Given the description of an element on the screen output the (x, y) to click on. 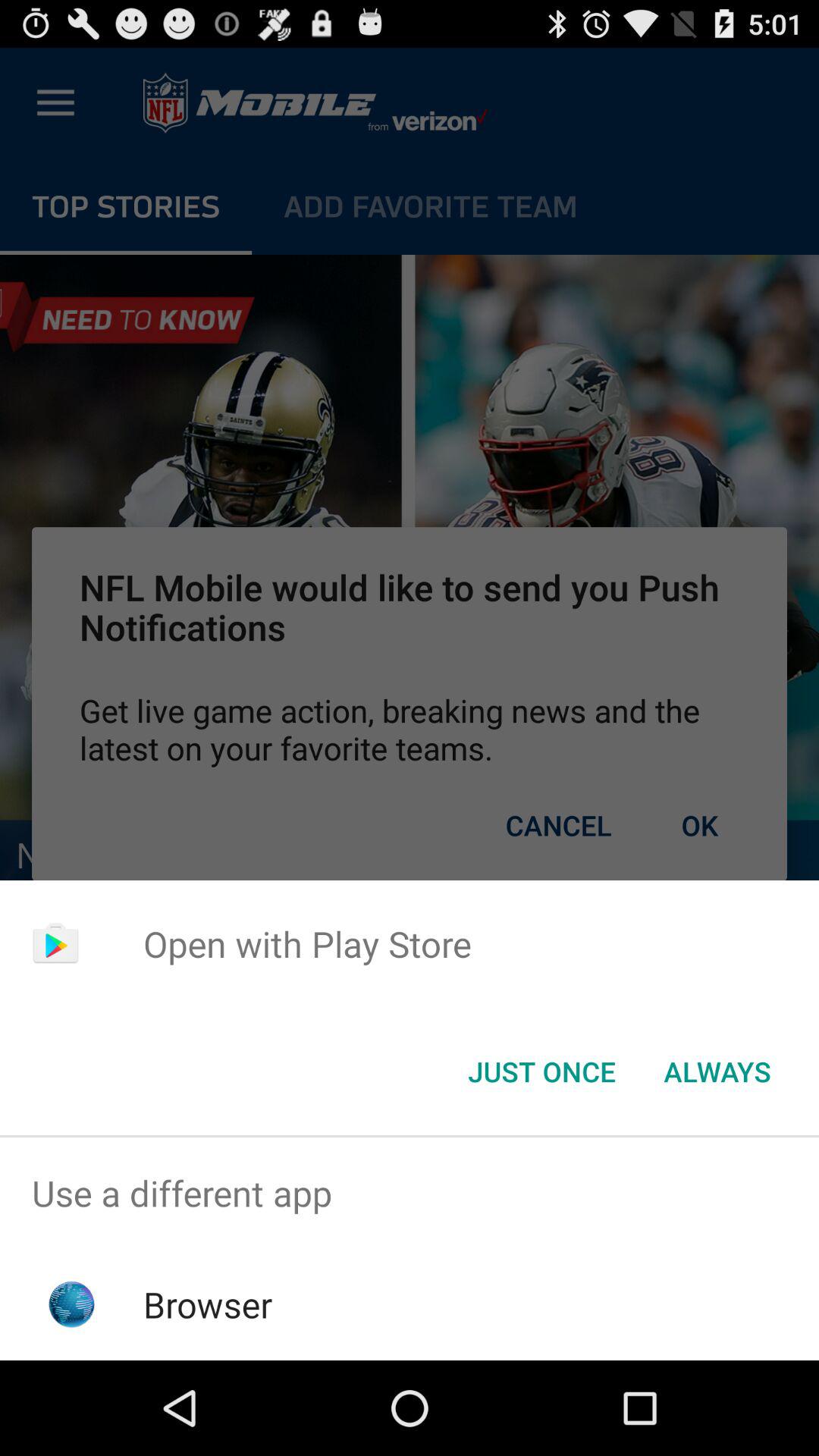
select the browser (207, 1304)
